Given the description of an element on the screen output the (x, y) to click on. 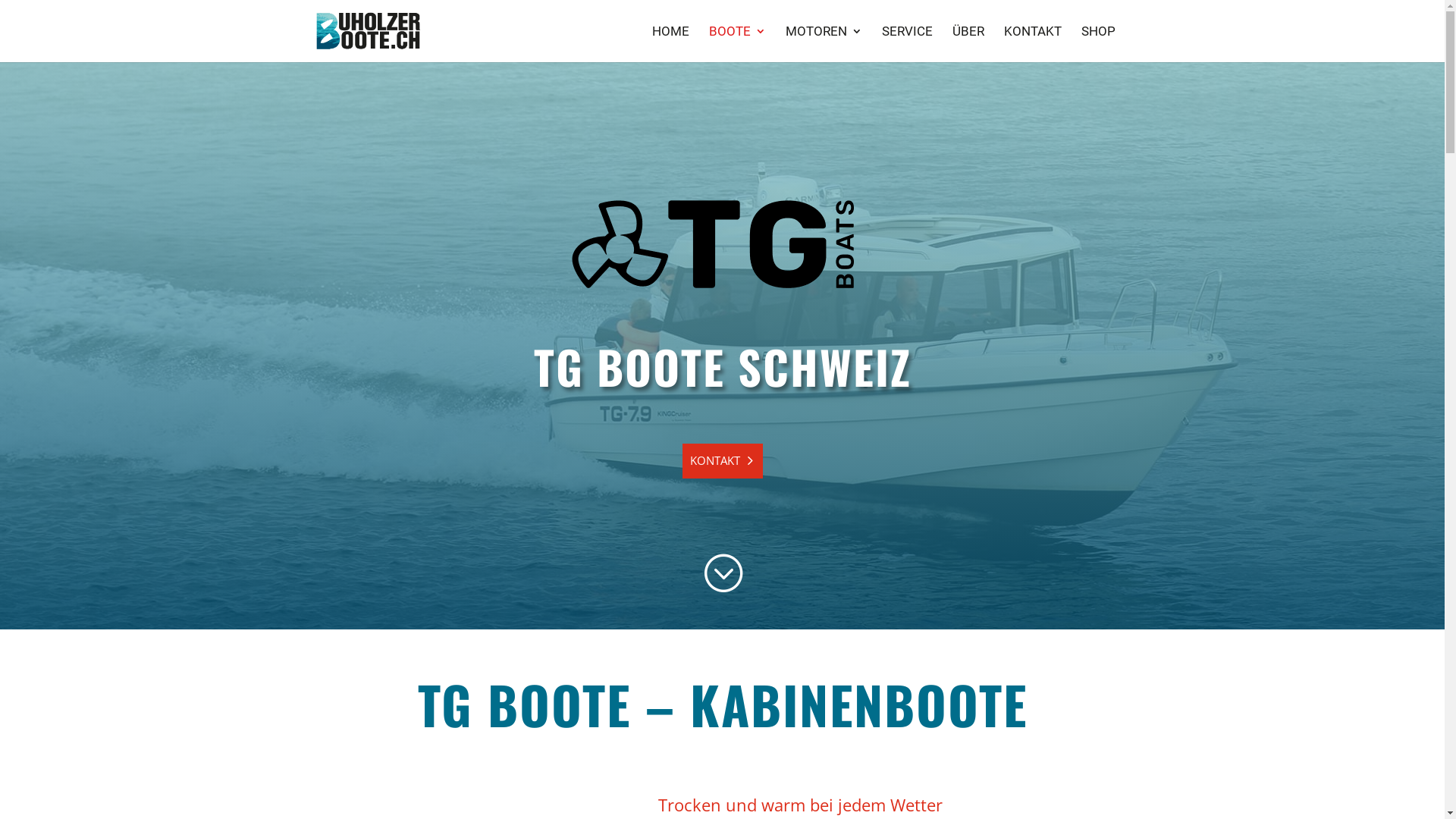
SERVICE Element type: text (906, 43)
; Element type: text (722, 571)
KONTAKT Element type: text (1032, 43)
KONTAKT Element type: text (722, 460)
HOME Element type: text (670, 43)
MOTOREN Element type: text (823, 43)
SHOP Element type: text (1098, 43)
BOOTE Element type: text (736, 43)
